Given the description of an element on the screen output the (x, y) to click on. 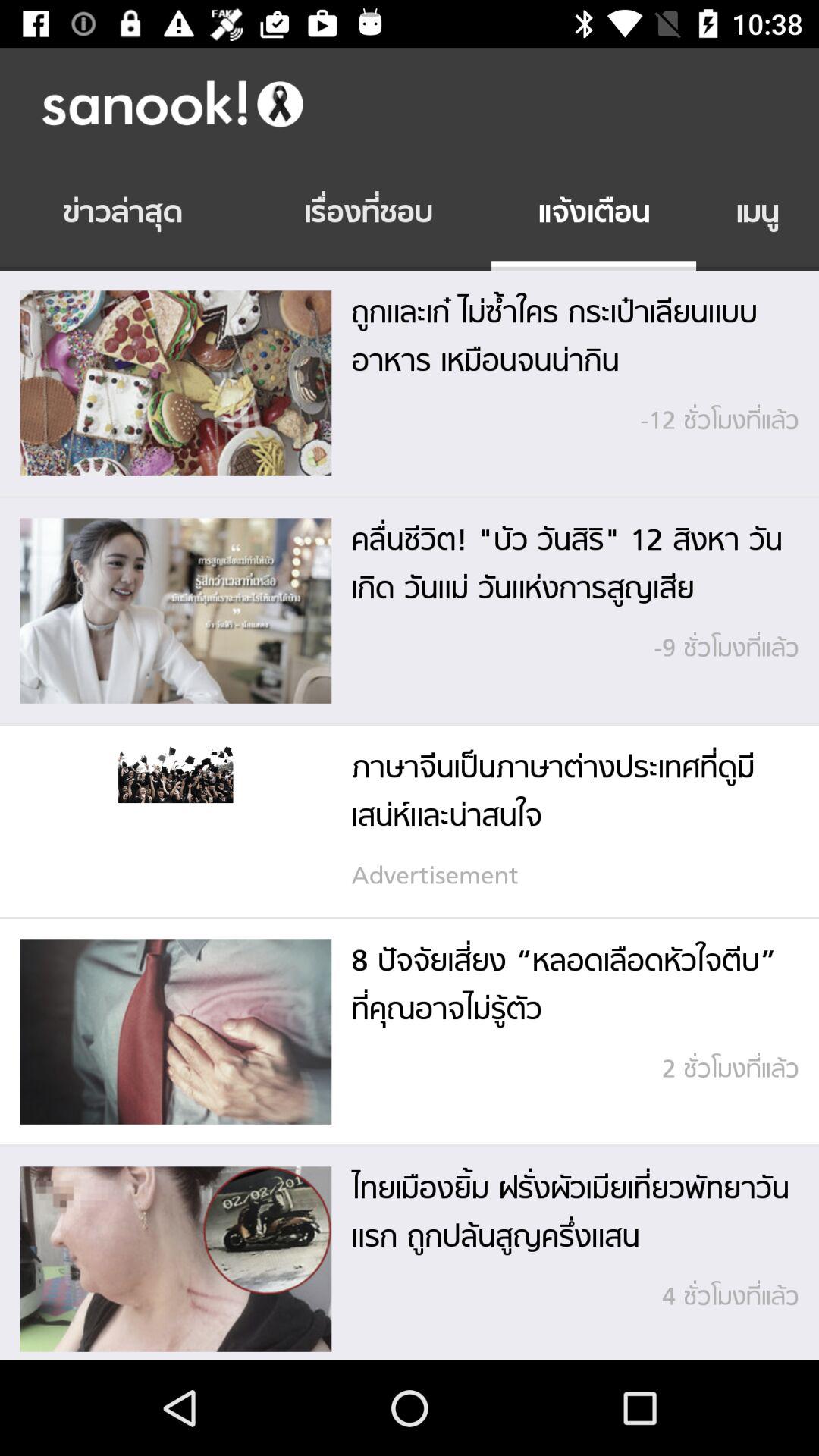
select the icon at the bottom (409, 1145)
